Given the description of an element on the screen output the (x, y) to click on. 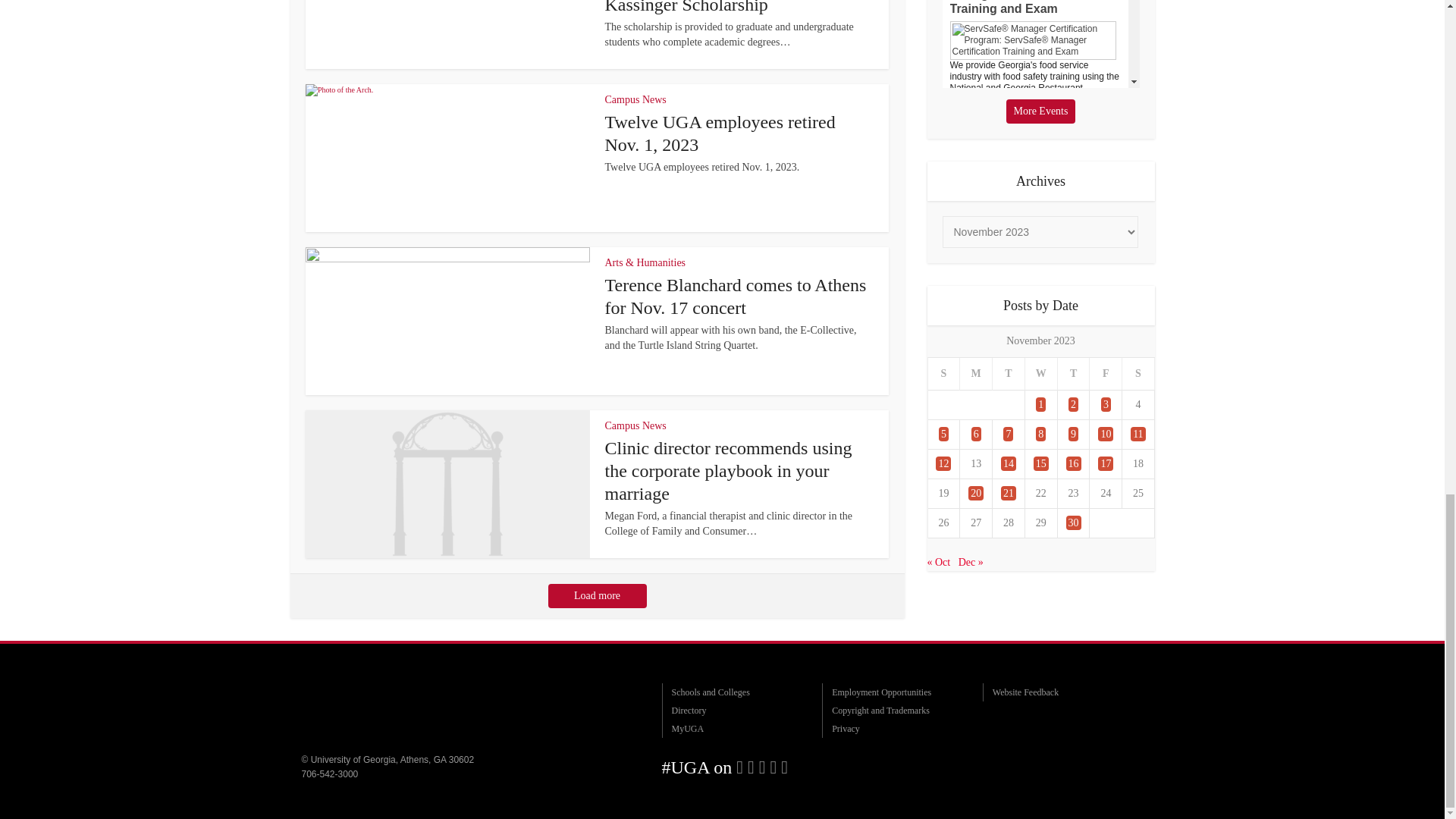
Campus News (635, 99)
Terence Blanchard comes to Athens for Nov. 17 concert (735, 296)
Twelve UGA employees retired Nov. 1, 2023 (720, 133)
Twelve UGA employees retired Nov. 1, 2023 (720, 133)
